Given the description of an element on the screen output the (x, y) to click on. 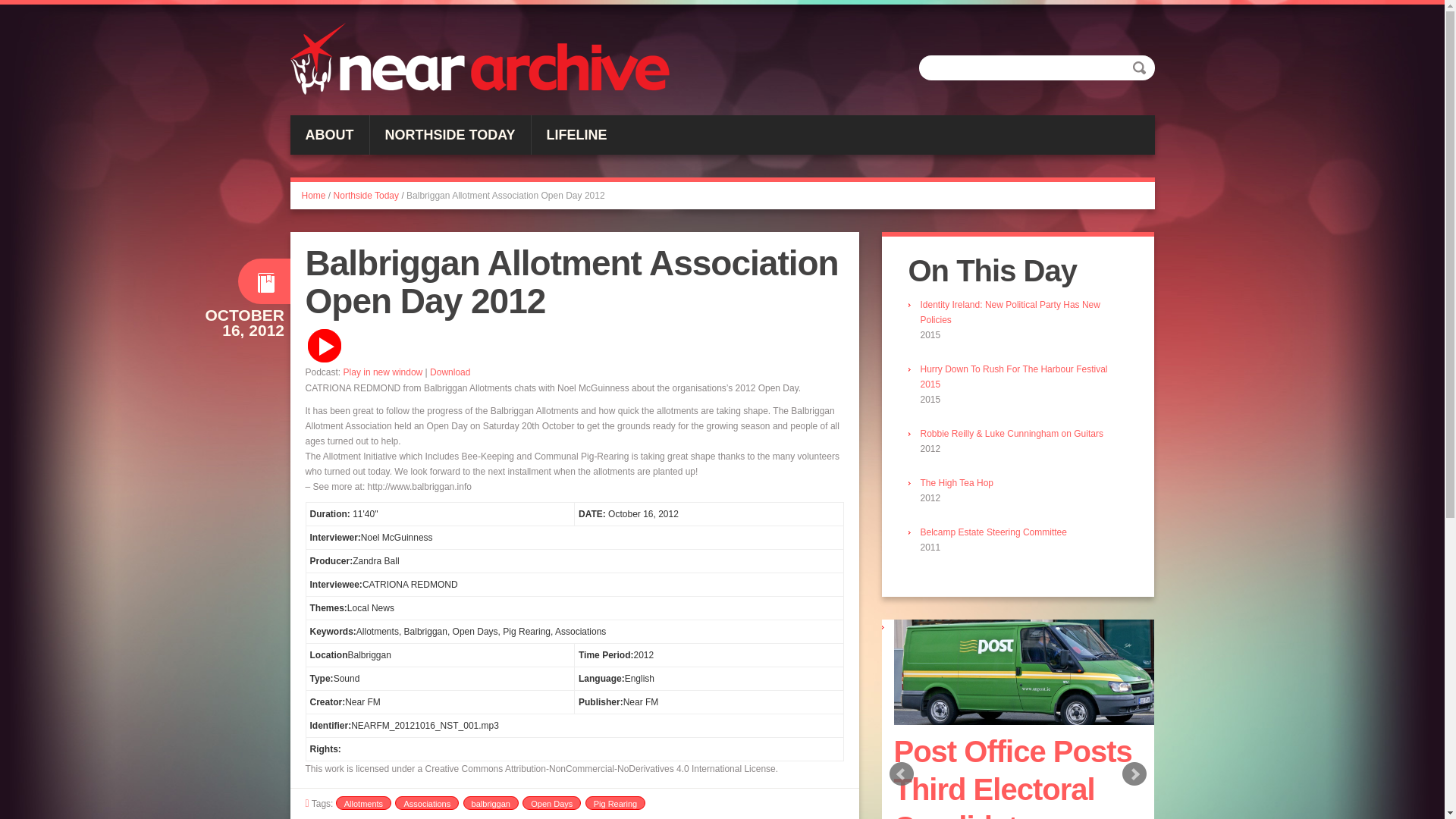
Download (449, 371)
Open Days (551, 802)
Hurry Down To Rush For The Harbour Festival 2015 (1014, 376)
Allotments (363, 802)
Pig Rearing (615, 802)
Identity Ireland: New Political Party Has New Policies (1010, 312)
Play (323, 345)
ABOUT (328, 134)
Near Archive (478, 59)
Home (313, 195)
balbriggan (490, 802)
LIFELINE (577, 134)
Associations (426, 802)
Northside Today (365, 195)
NORTHSIDE TODAY (450, 134)
